Given the description of an element on the screen output the (x, y) to click on. 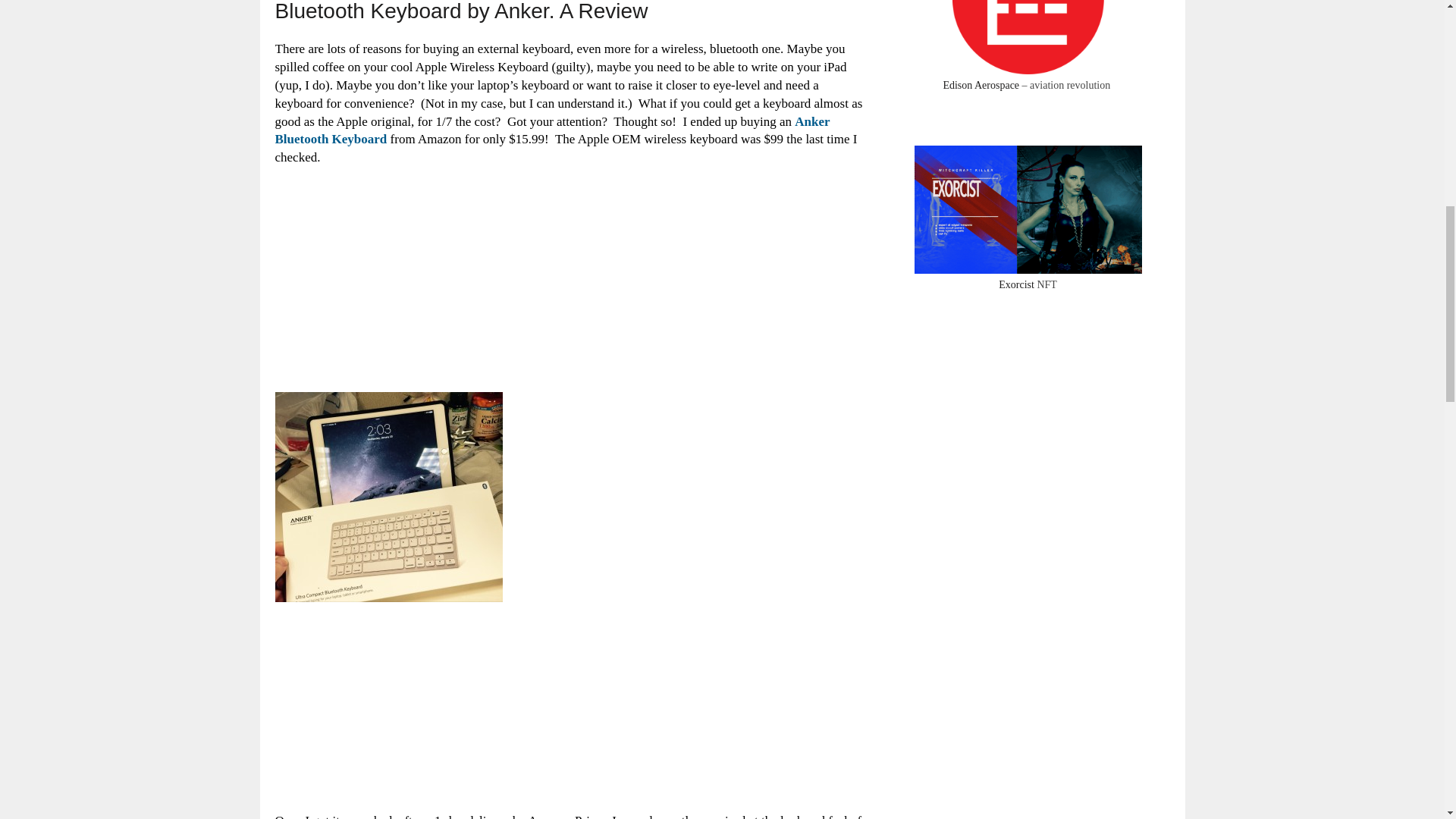
Edison Aerospace (980, 84)
Exorcist (1015, 284)
bluetooth keyboard anker review - Advanced Primitive (388, 496)
Advertisement (388, 711)
Anker Bluetooth Keyboard (552, 129)
Advertisement (388, 276)
